Given the description of an element on the screen output the (x, y) to click on. 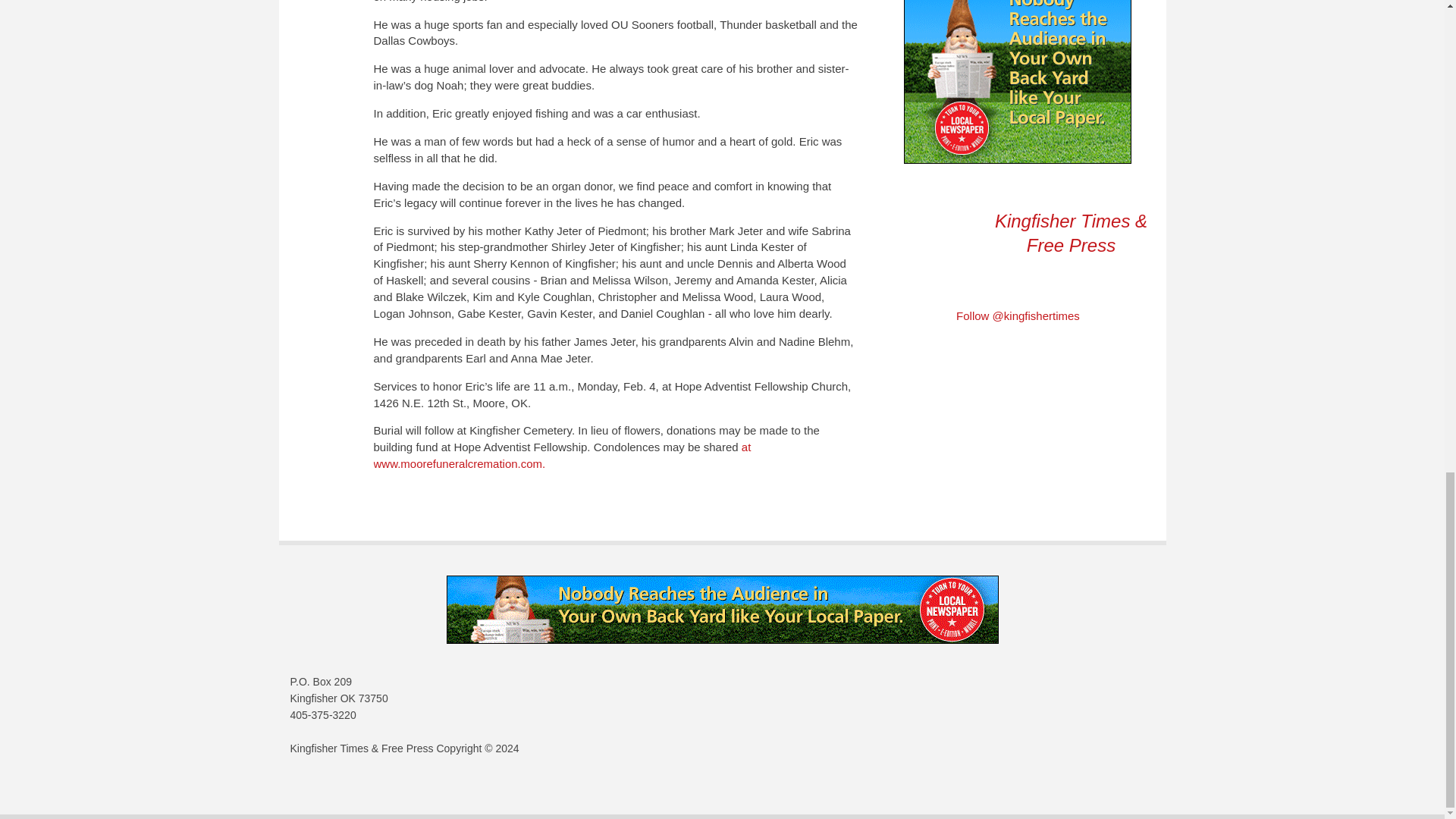
at www.moorefuneralcremation.com. (561, 455)
